Given the description of an element on the screen output the (x, y) to click on. 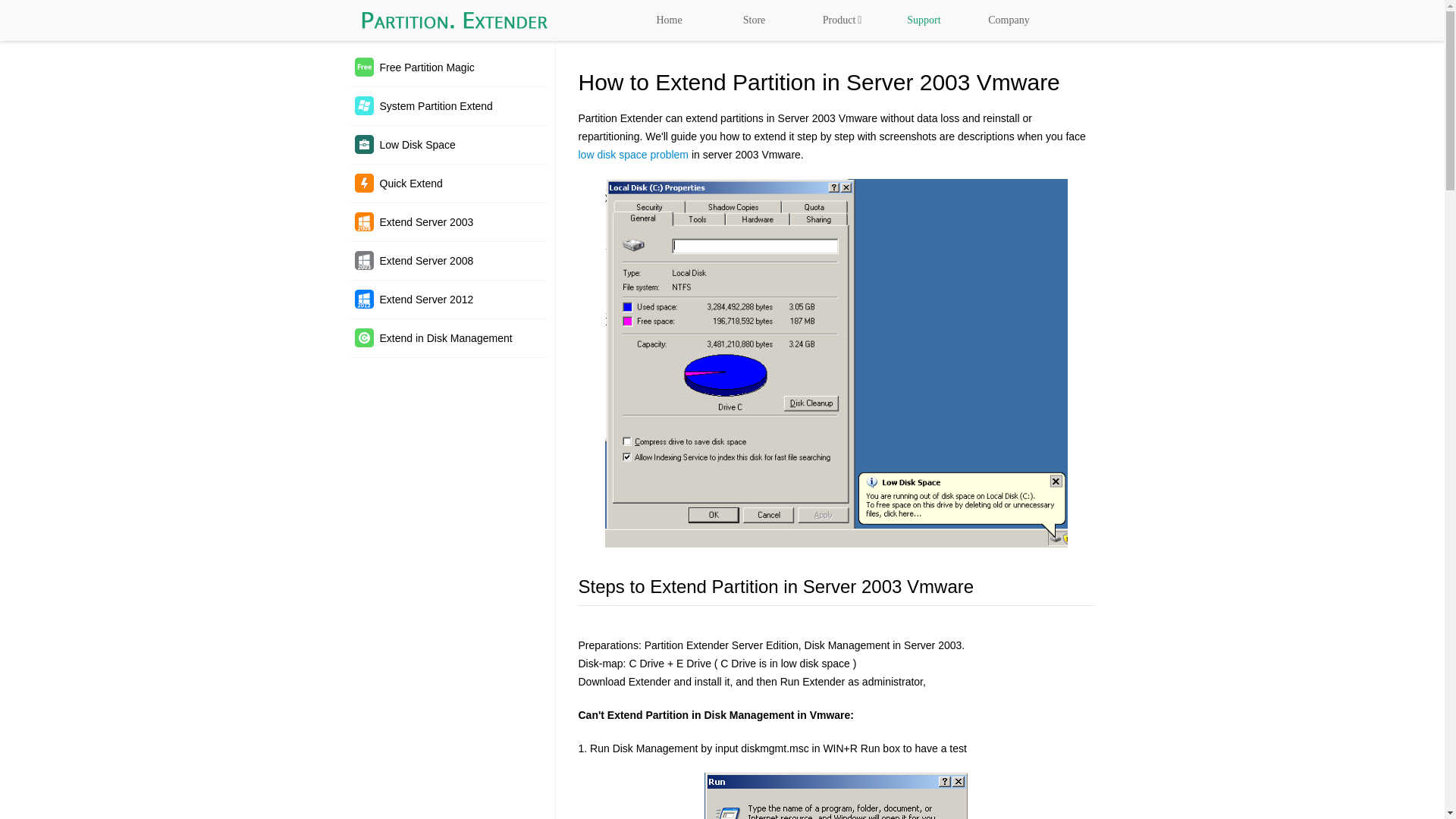
Product (838, 20)
Extend Server 2008 (448, 260)
Extend Server 2012 (448, 299)
Quick Extend (448, 183)
Free Partition Magic (448, 67)
low disk space problem (633, 154)
Home (668, 20)
Low Disk Space (448, 145)
Store (754, 20)
Support (922, 20)
Extend Server 2003 (448, 222)
Company (1008, 20)
Extend in Disk Management (448, 338)
System Partition Extend (448, 106)
